Given the description of an element on the screen output the (x, y) to click on. 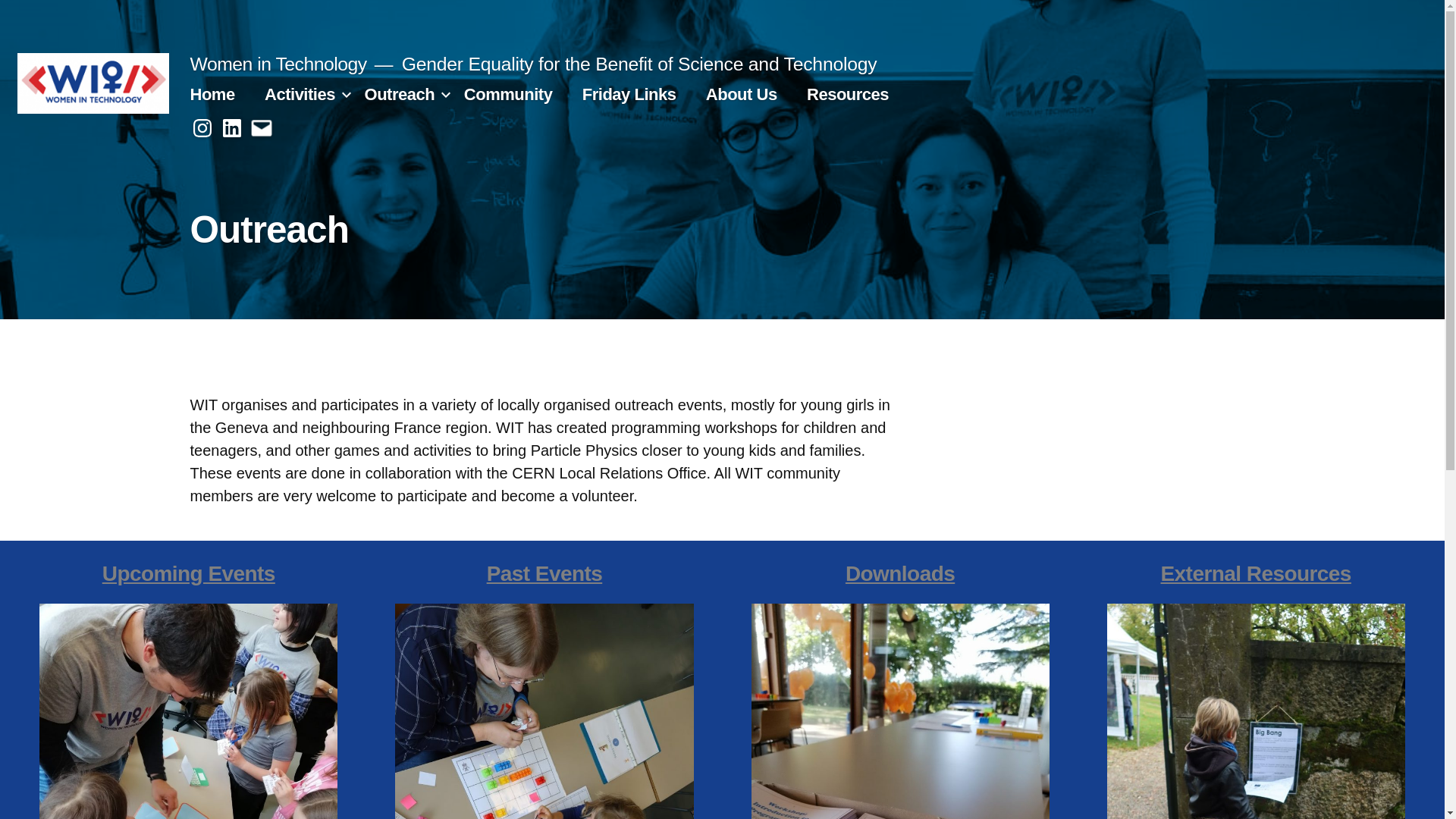
Downloads Element type: text (899, 573)
Email Element type: text (260, 128)
Resources Element type: text (847, 93)
Home Element type: text (211, 93)
About Us Element type: text (741, 93)
Outreach Element type: text (399, 93)
Community Element type: text (508, 93)
Instagram Element type: text (201, 128)
LinkedIn Element type: text (231, 128)
Women in Technology Element type: text (277, 63)
Activities Element type: text (299, 93)
Friday Links Element type: text (629, 93)
External Resources Element type: text (1255, 573)
Upcoming Events Element type: text (188, 573)
Past Events Element type: text (544, 573)
